Given the description of an element on the screen output the (x, y) to click on. 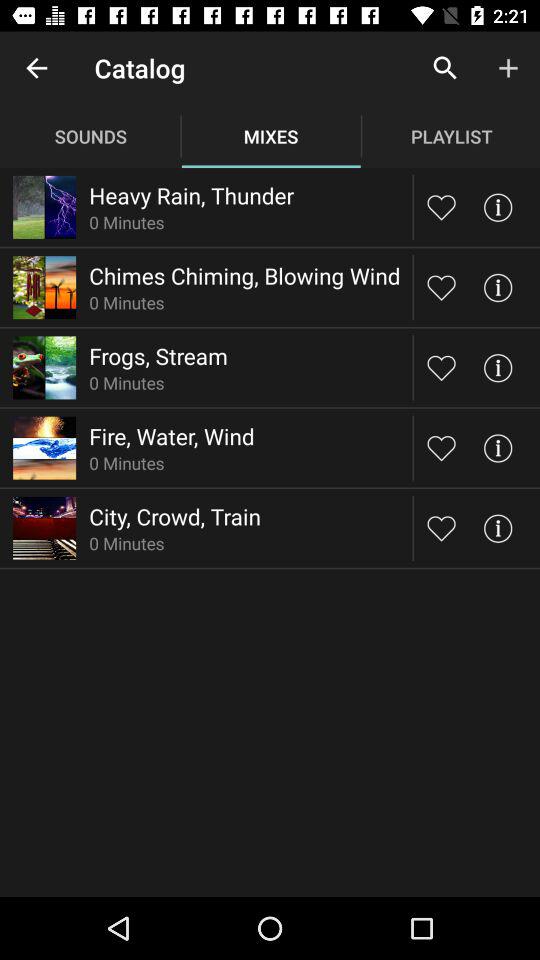
save to likes (441, 206)
